Given the description of an element on the screen output the (x, y) to click on. 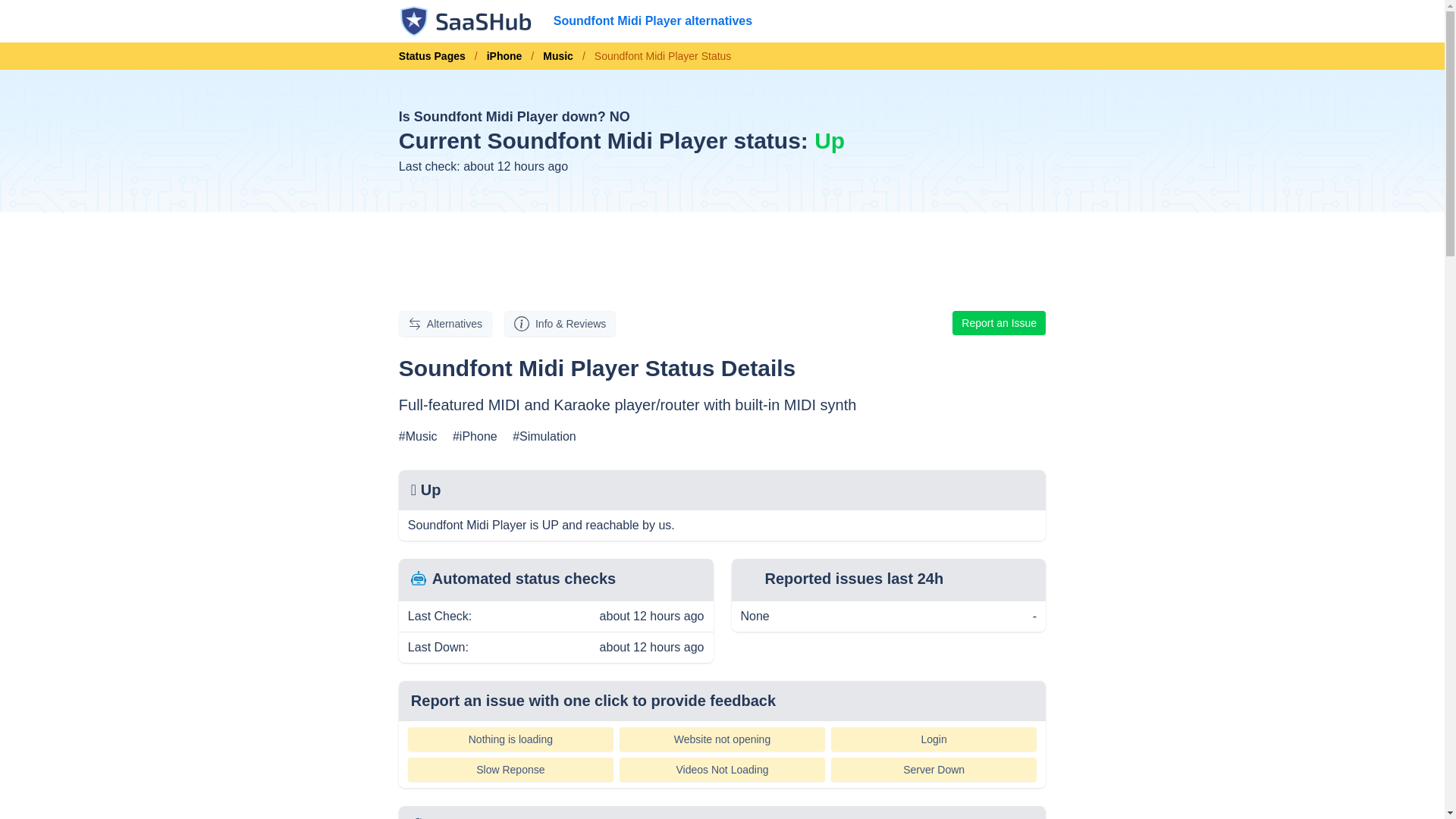
Report an Issue (998, 322)
Alternatives (445, 323)
Alternatives to Soundfont Midi Player (445, 323)
Soundfont Midi Player details and reviews (559, 323)
Nothing is loading (509, 739)
Music (558, 55)
Videos Not Loading (722, 769)
iPhone (504, 55)
Soundfont Midi Player alternatives (652, 21)
Slow Reponse (509, 769)
